Given the description of an element on the screen output the (x, y) to click on. 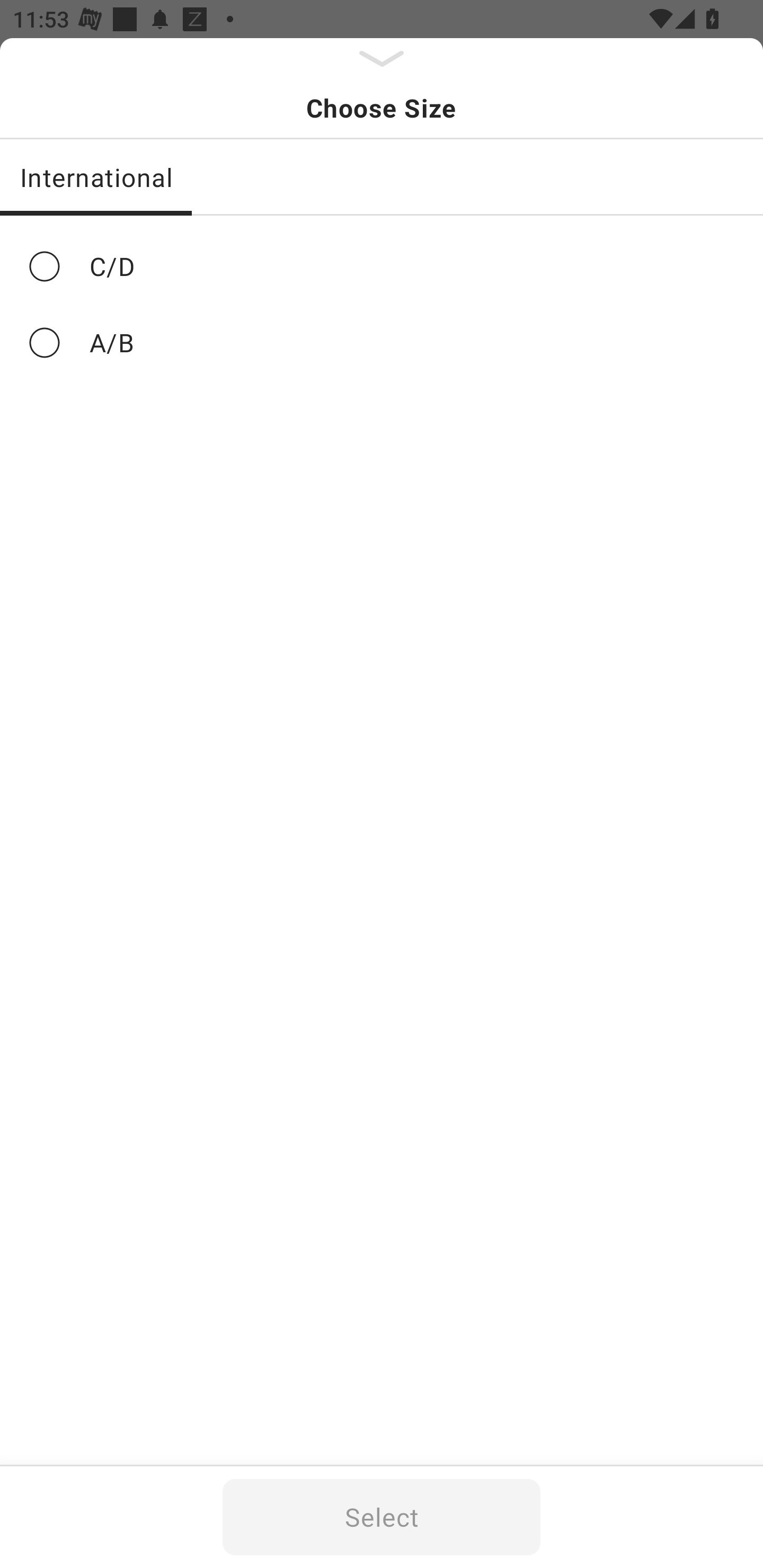
C/D (381, 266)
A/B (381, 342)
Select (381, 1516)
